Given the description of an element on the screen output the (x, y) to click on. 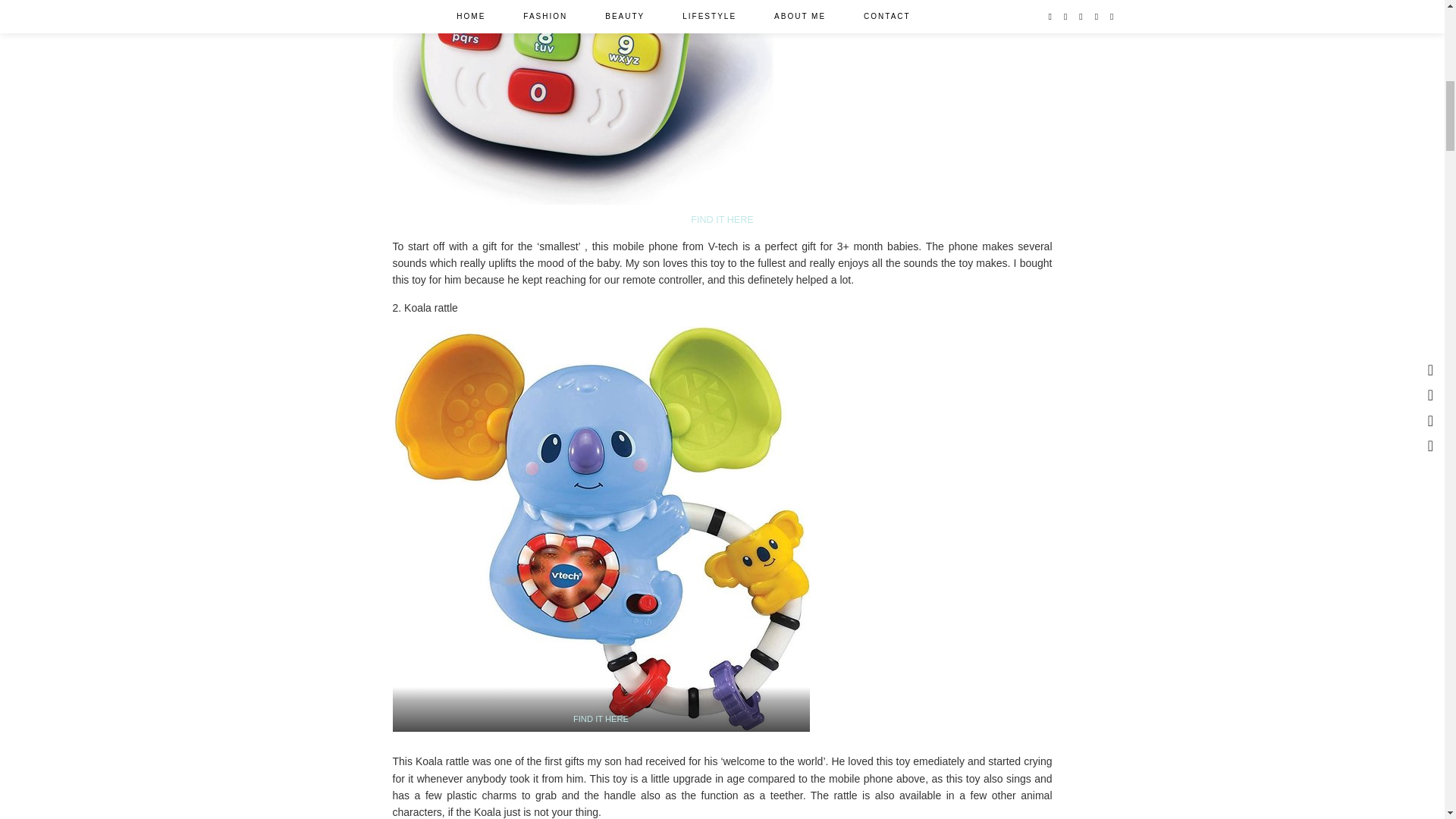
FIND IT HERE (721, 219)
FIND IT HERE (600, 718)
